Given the description of an element on the screen output the (x, y) to click on. 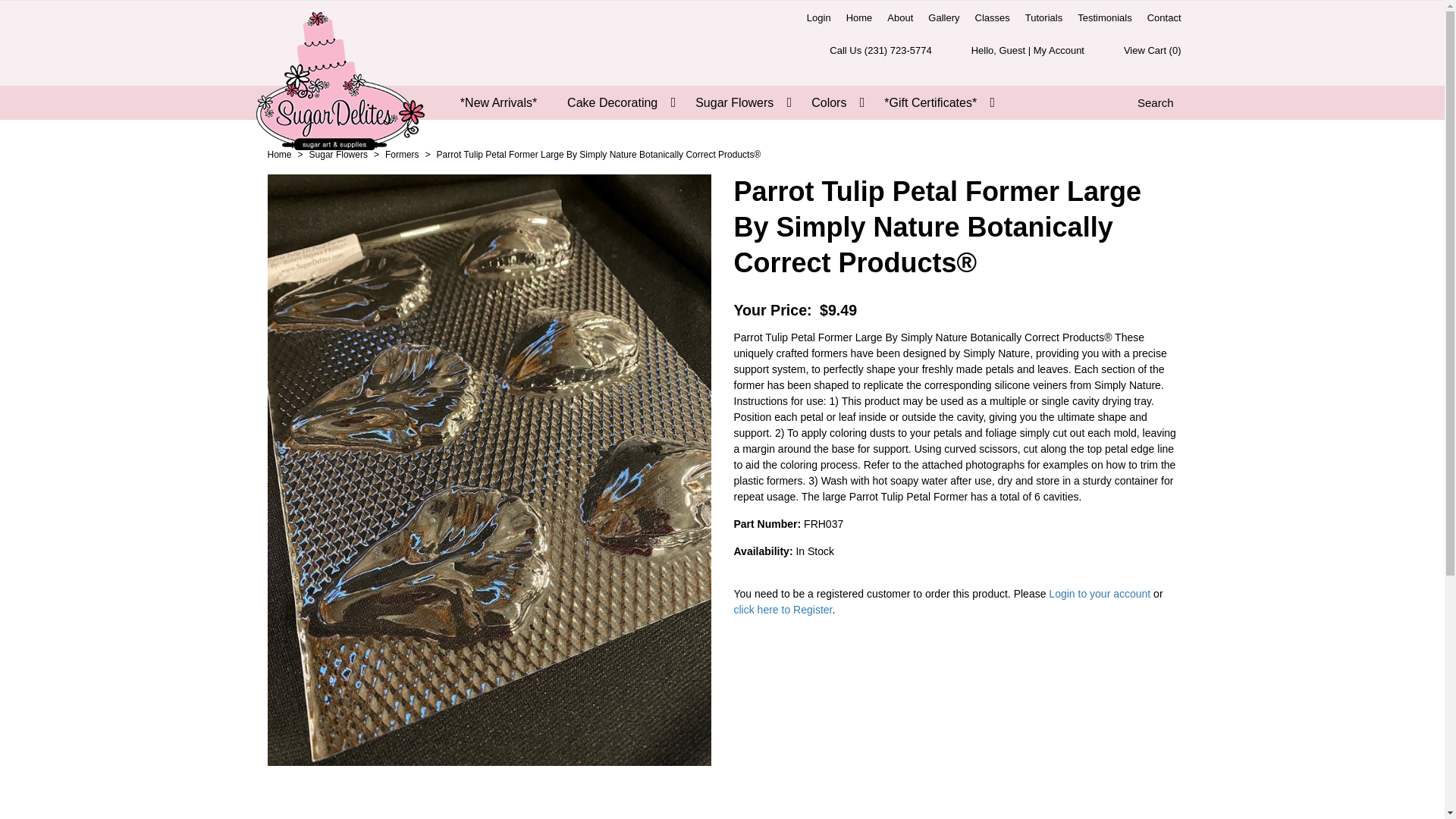
Testimonials (1105, 17)
Tutorials (1043, 17)
Home (859, 17)
Contact (1164, 17)
Cake Decorating (615, 102)
Gallery (943, 17)
Classes (992, 17)
Colors (832, 102)
Login (818, 17)
About (899, 17)
